Given the description of an element on the screen output the (x, y) to click on. 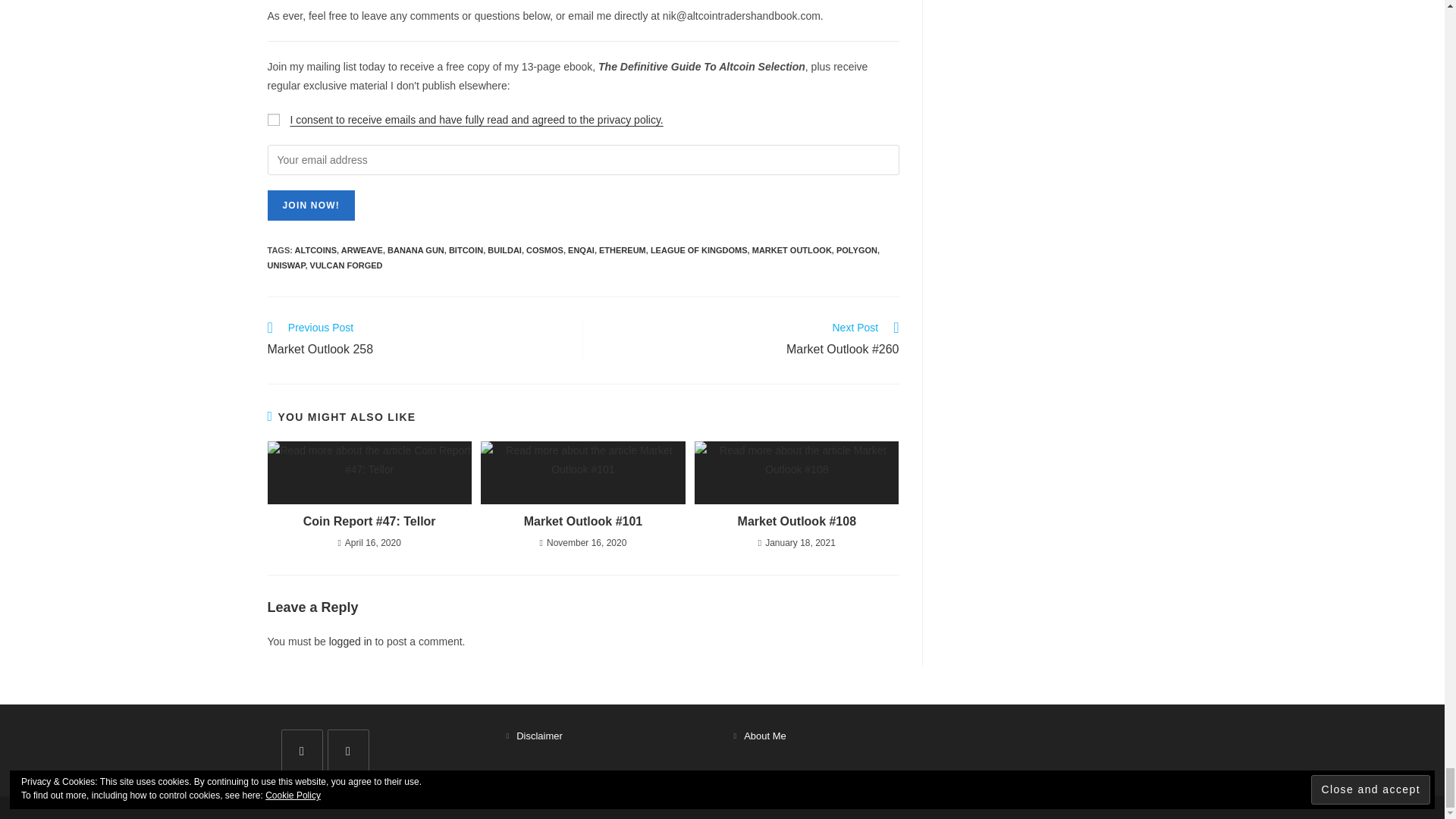
1 (272, 119)
Join Now! (309, 205)
